Given the description of an element on the screen output the (x, y) to click on. 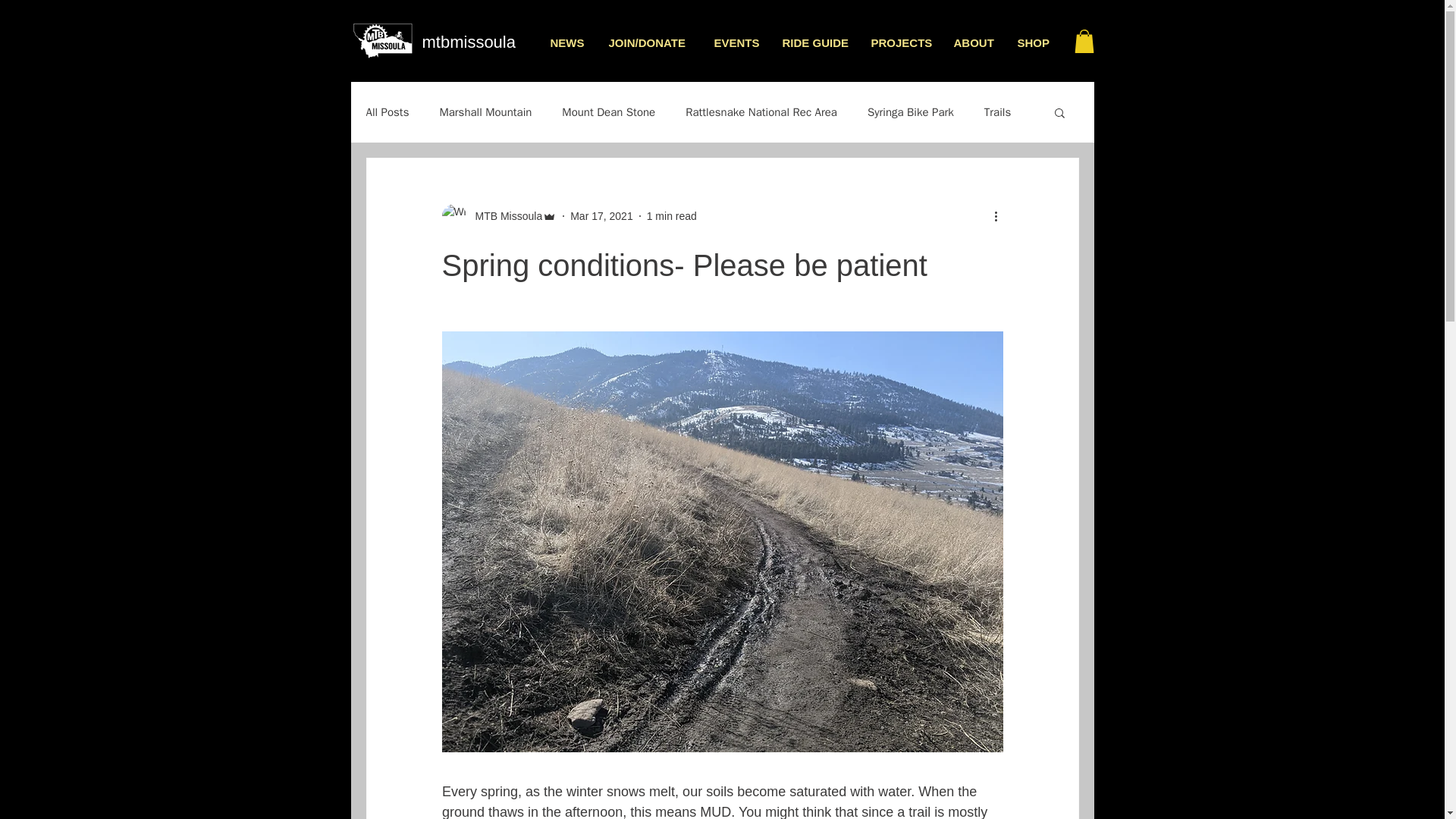
Trails (997, 112)
Mount Dean Stone (608, 112)
MTB Missoula (503, 216)
Rattlesnake National Rec Area (761, 112)
ABOUT (974, 43)
EVENTS (735, 43)
1 min read (671, 215)
All Posts (387, 112)
mtbmissoula (468, 41)
Syringa Bike Park (910, 112)
